Given the description of an element on the screen output the (x, y) to click on. 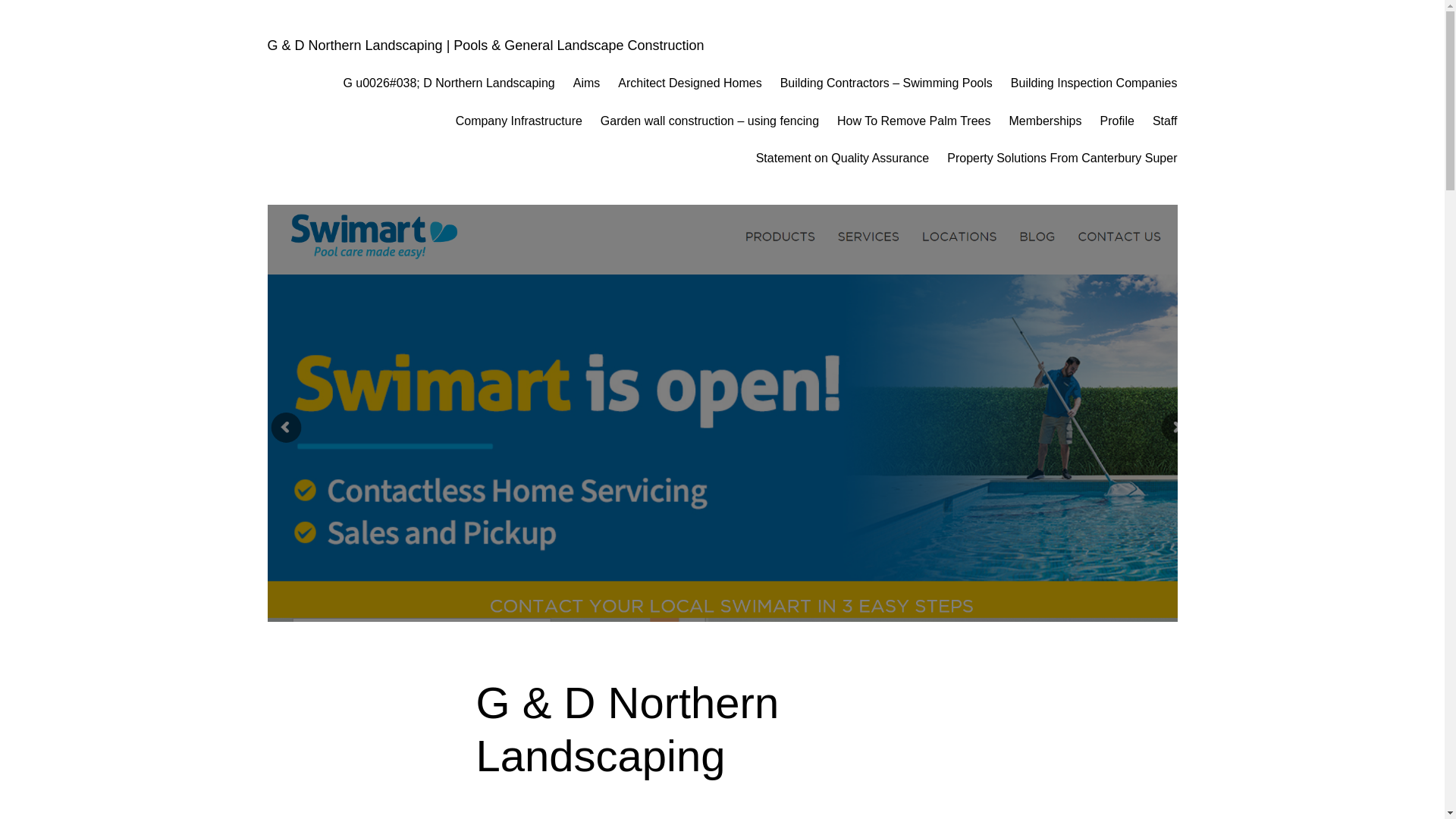
Staff Element type: text (1164, 121)
Building Inspection Companies Element type: text (1093, 83)
Architect Designed Homes Element type: text (689, 83)
G u0026#038; D Northern Landscaping Element type: text (448, 83)
Aims Element type: text (586, 83)
Property Solutions From Canterbury Super Element type: text (1061, 158)
Statement on Quality Assurance Element type: text (842, 158)
Memberships Element type: text (1044, 121)
Company Infrastructure Element type: text (518, 121)
Profile Element type: text (1117, 121)
How To Remove Palm Trees Element type: text (913, 121)
